Given the description of an element on the screen output the (x, y) to click on. 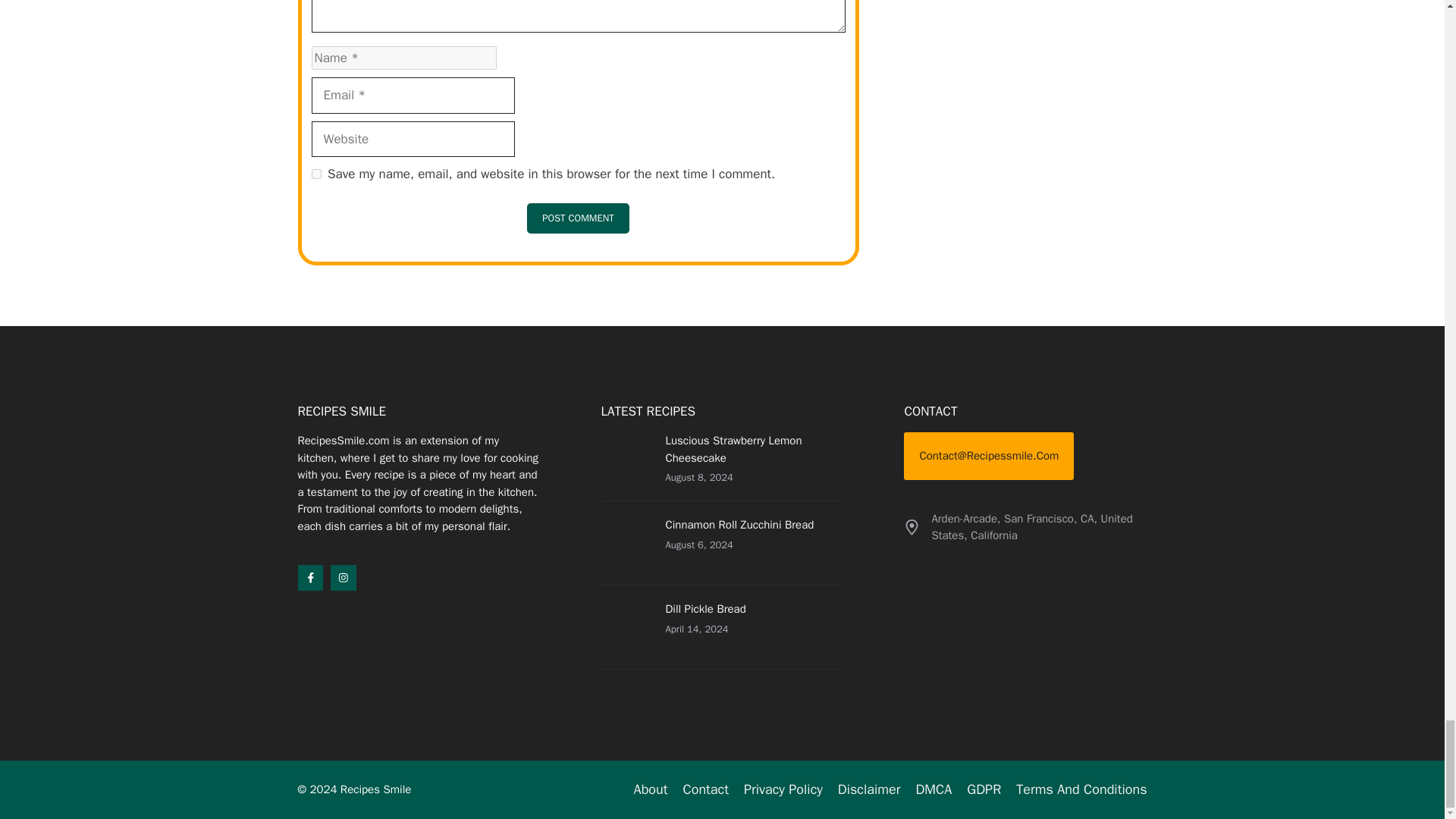
Post Comment (577, 218)
Cinnamon Roll Zucchini Bread (739, 524)
Post Comment (577, 218)
Luscious Strawberry Lemon Cheesecake (733, 449)
yes (315, 173)
Dill Pickle Bread (705, 608)
